Given the description of an element on the screen output the (x, y) to click on. 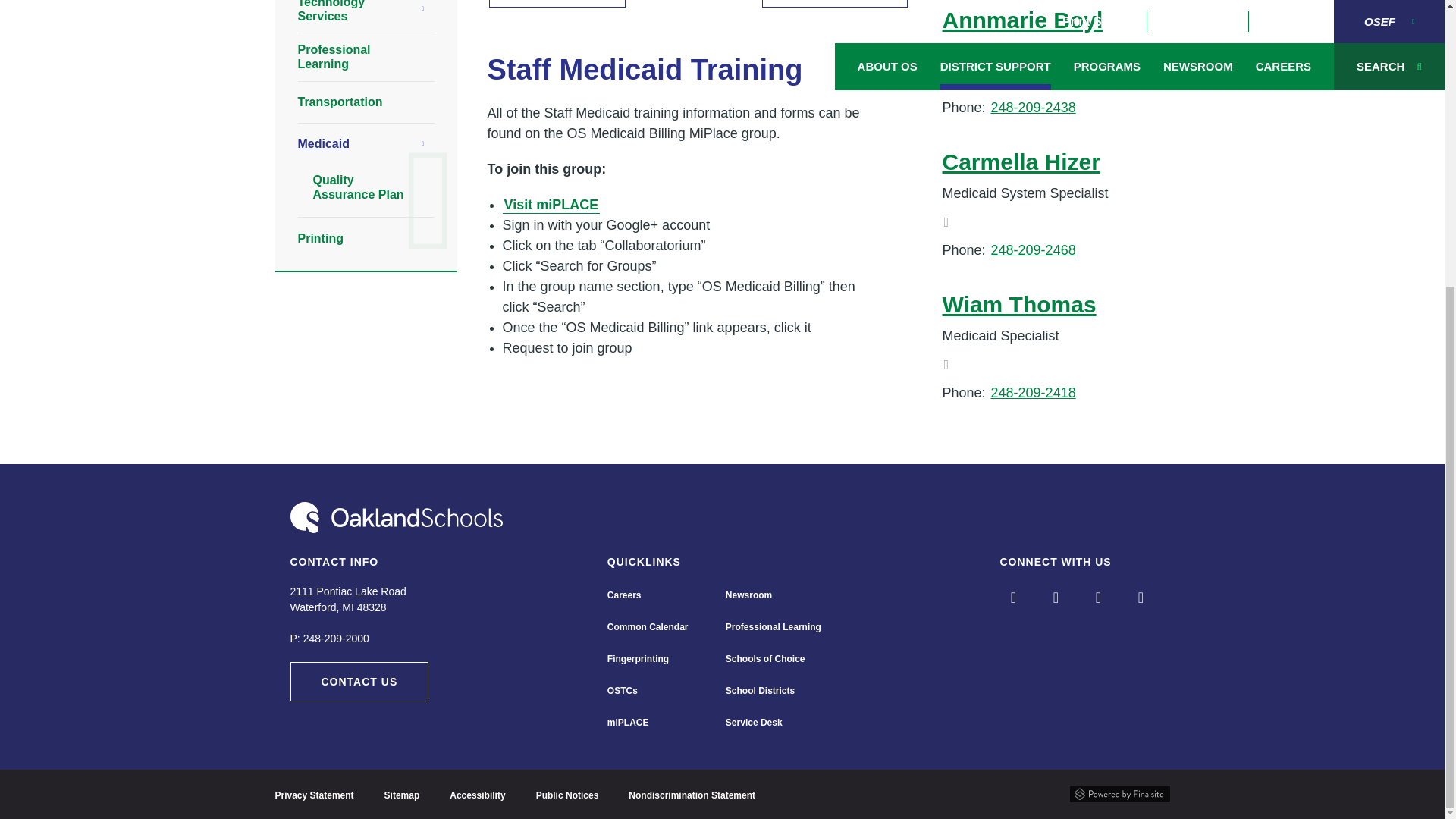
Powered by Finalsite opens in a new window (1118, 793)
Quality Assurance Plan (557, 3)
Medicaid Annual Notification Regarding Parental Consent (834, 3)
